Given the description of an element on the screen output the (x, y) to click on. 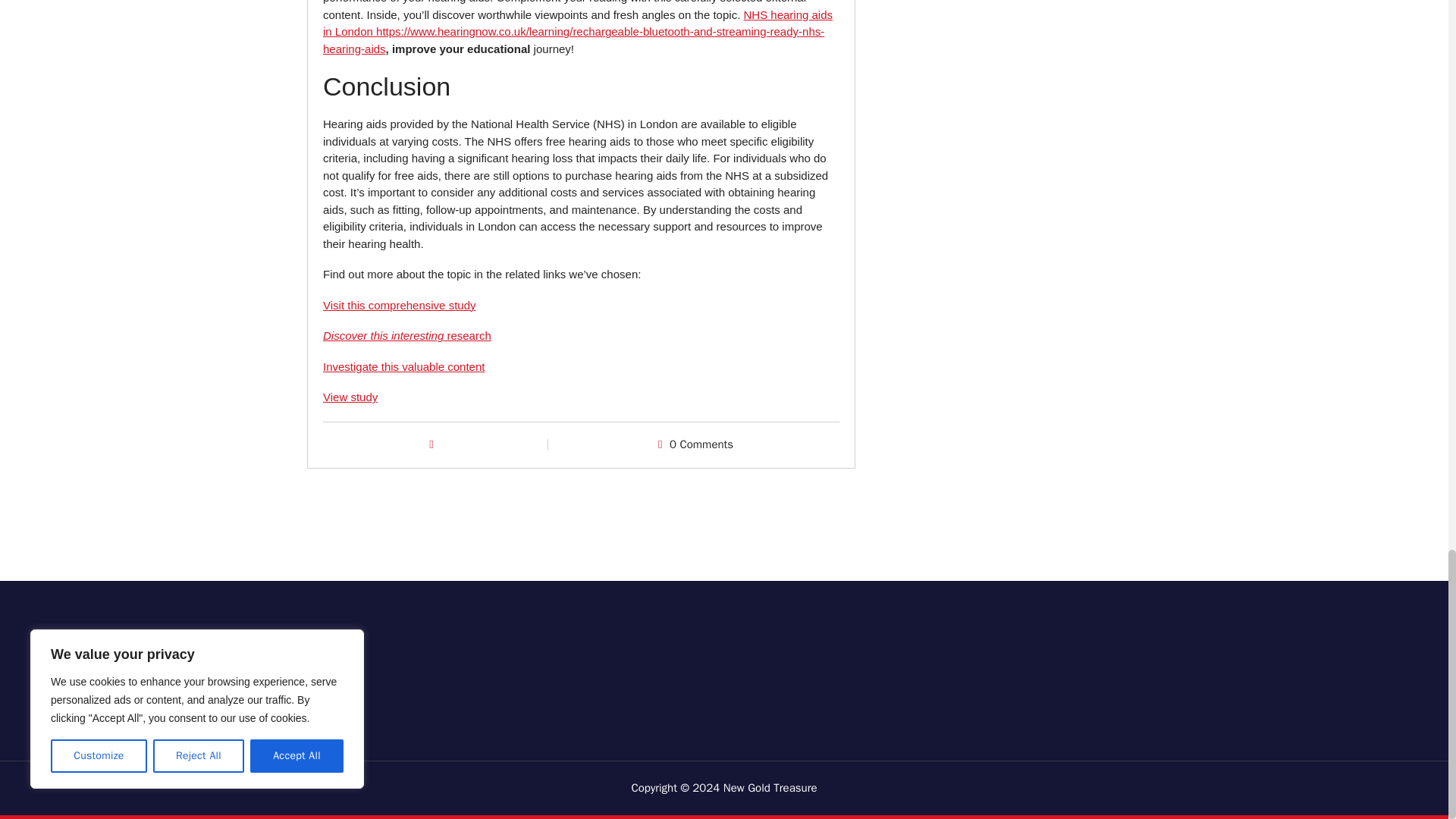
Visit this comprehensive study (399, 305)
Investigate this valuable content (403, 366)
Discover this interesting research (407, 335)
